Given the description of an element on the screen output the (x, y) to click on. 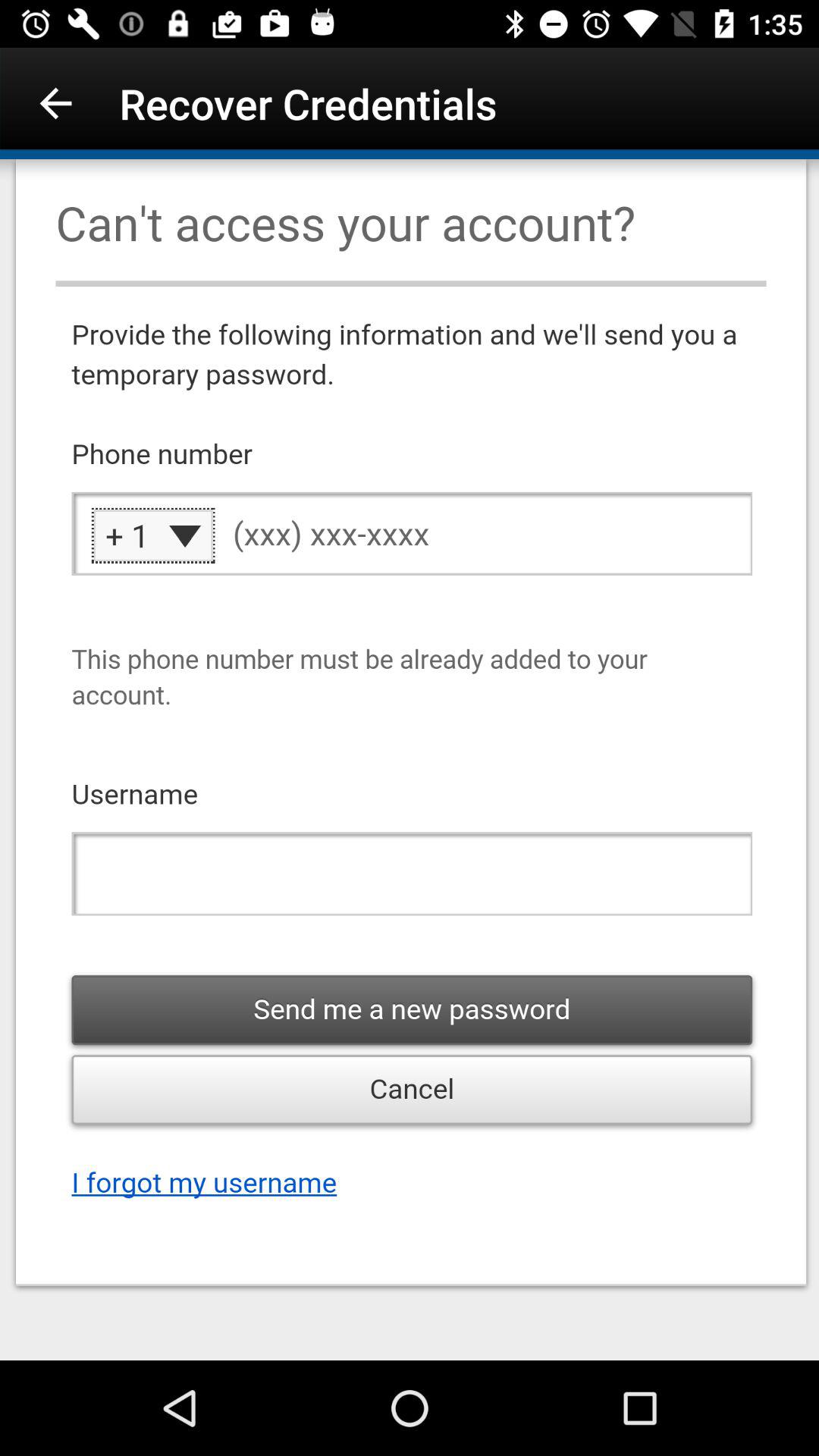
description (409, 759)
